Given the description of an element on the screen output the (x, y) to click on. 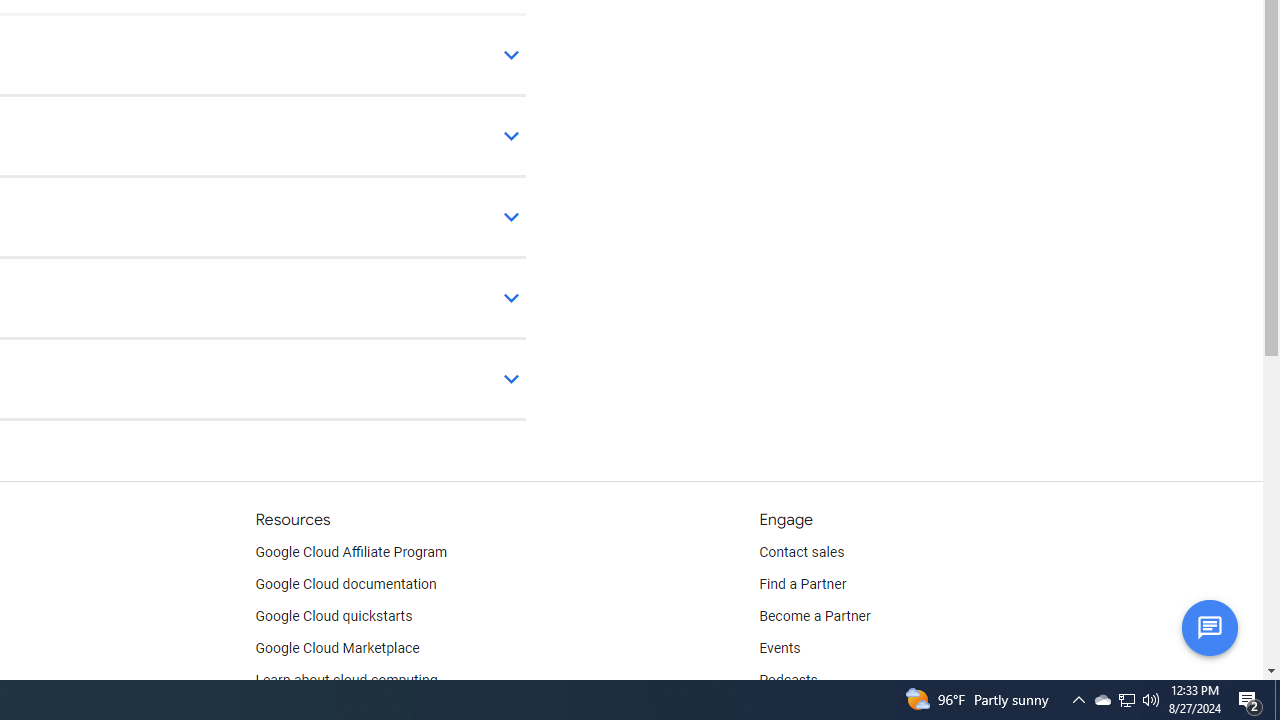
Podcasts (788, 680)
Google Cloud Affiliate Program (351, 552)
Contact sales (801, 552)
Google Cloud quickstarts (333, 616)
Google Cloud documentation (345, 584)
Events (780, 648)
Find a Partner (803, 584)
Google Cloud Marketplace (336, 648)
Button to activate chat (1209, 627)
Learn about cloud computing (345, 680)
Become a Partner (814, 616)
